Given the description of an element on the screen output the (x, y) to click on. 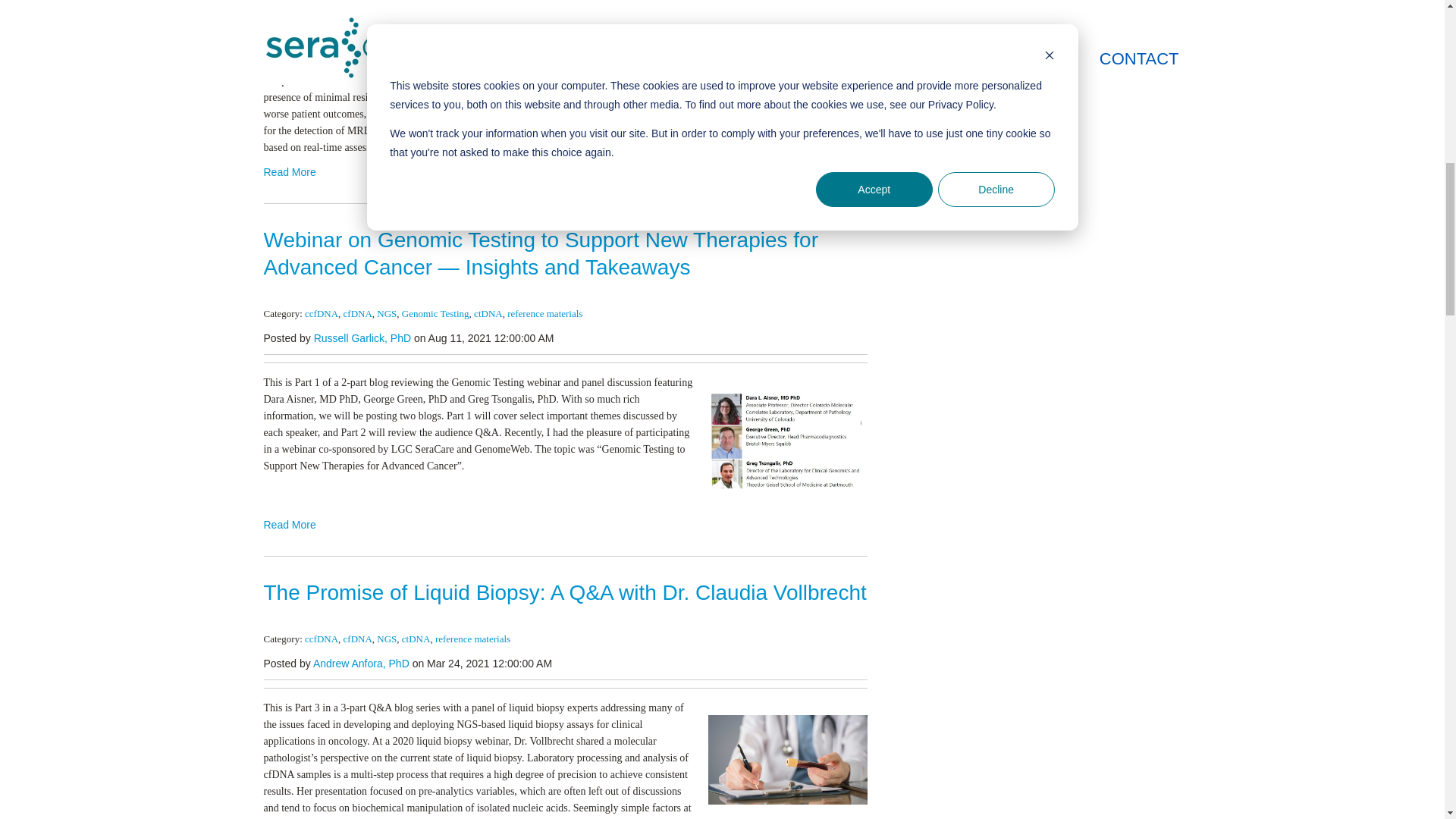
ccfDNA (320, 313)
Genomic Testing (434, 313)
cfDNA (357, 313)
Read More (565, 172)
NGS (386, 313)
